Given the description of an element on the screen output the (x, y) to click on. 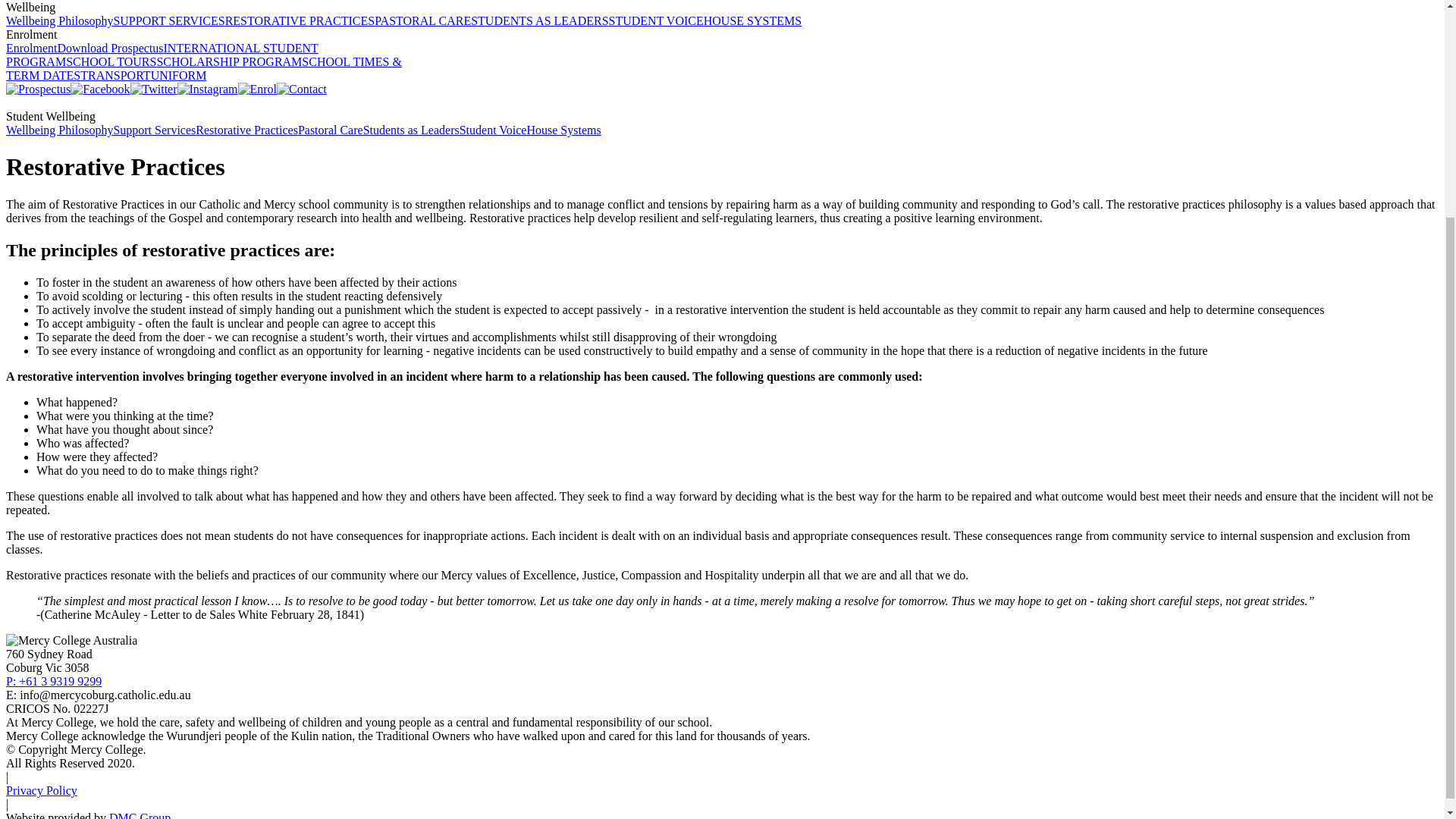
SUPPORT SERVICES (168, 20)
STUDENT VOICE (655, 20)
PASTORAL CARE (422, 20)
Enrolment (31, 47)
Wellbeing Philosophy (59, 20)
STUDENTS AS LEADERS (539, 20)
Download Prospectus (110, 47)
HOUSE SYSTEMS (752, 20)
RESTORATIVE PRACTICES (300, 20)
